Given the description of an element on the screen output the (x, y) to click on. 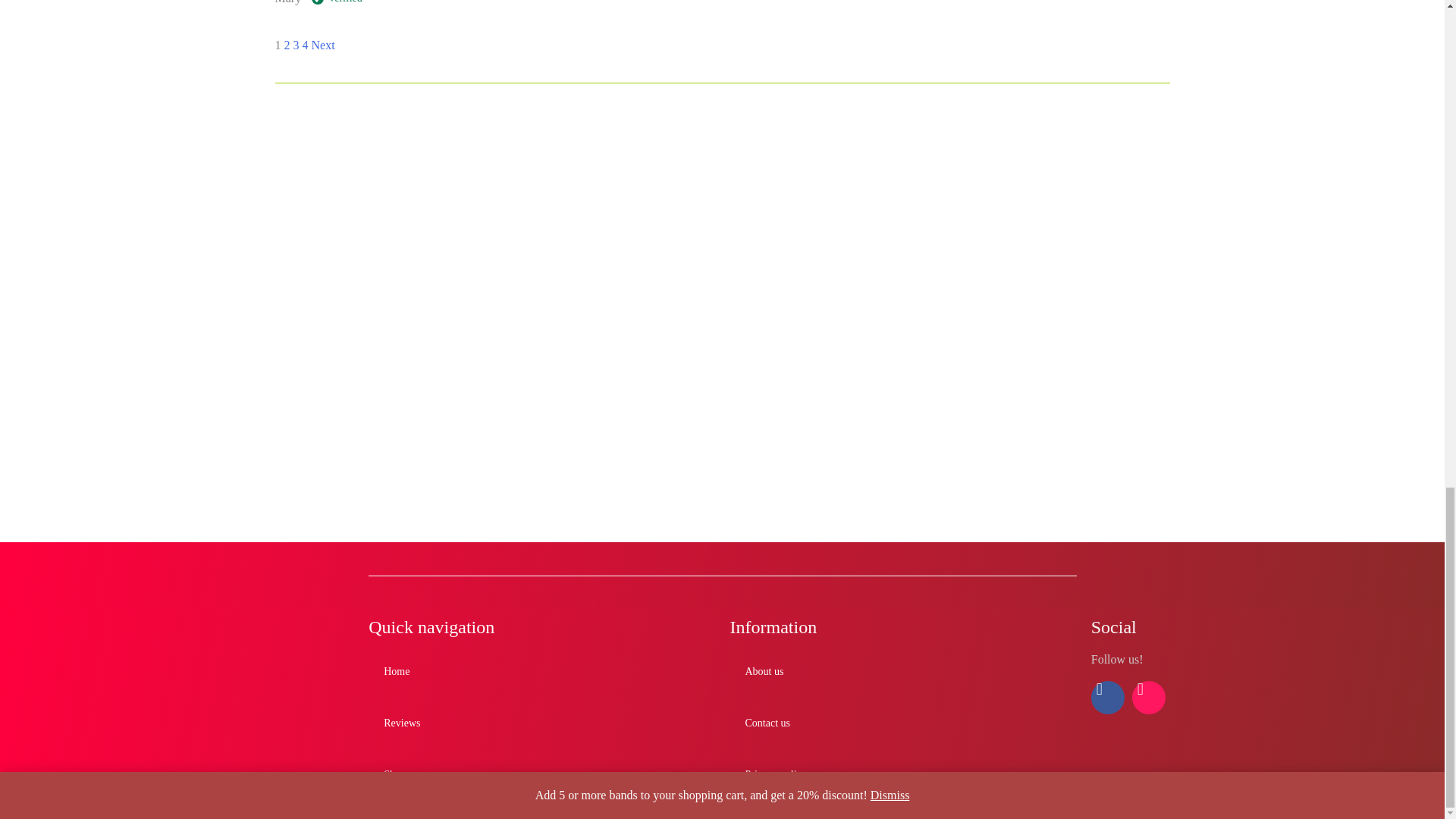
Facebook (1107, 697)
Reviews (401, 723)
Home (396, 671)
Next (322, 44)
About us (763, 671)
Contact us (767, 723)
Instagram (1149, 697)
Privacy policy (774, 774)
Shop (394, 774)
